Given the description of an element on the screen output the (x, y) to click on. 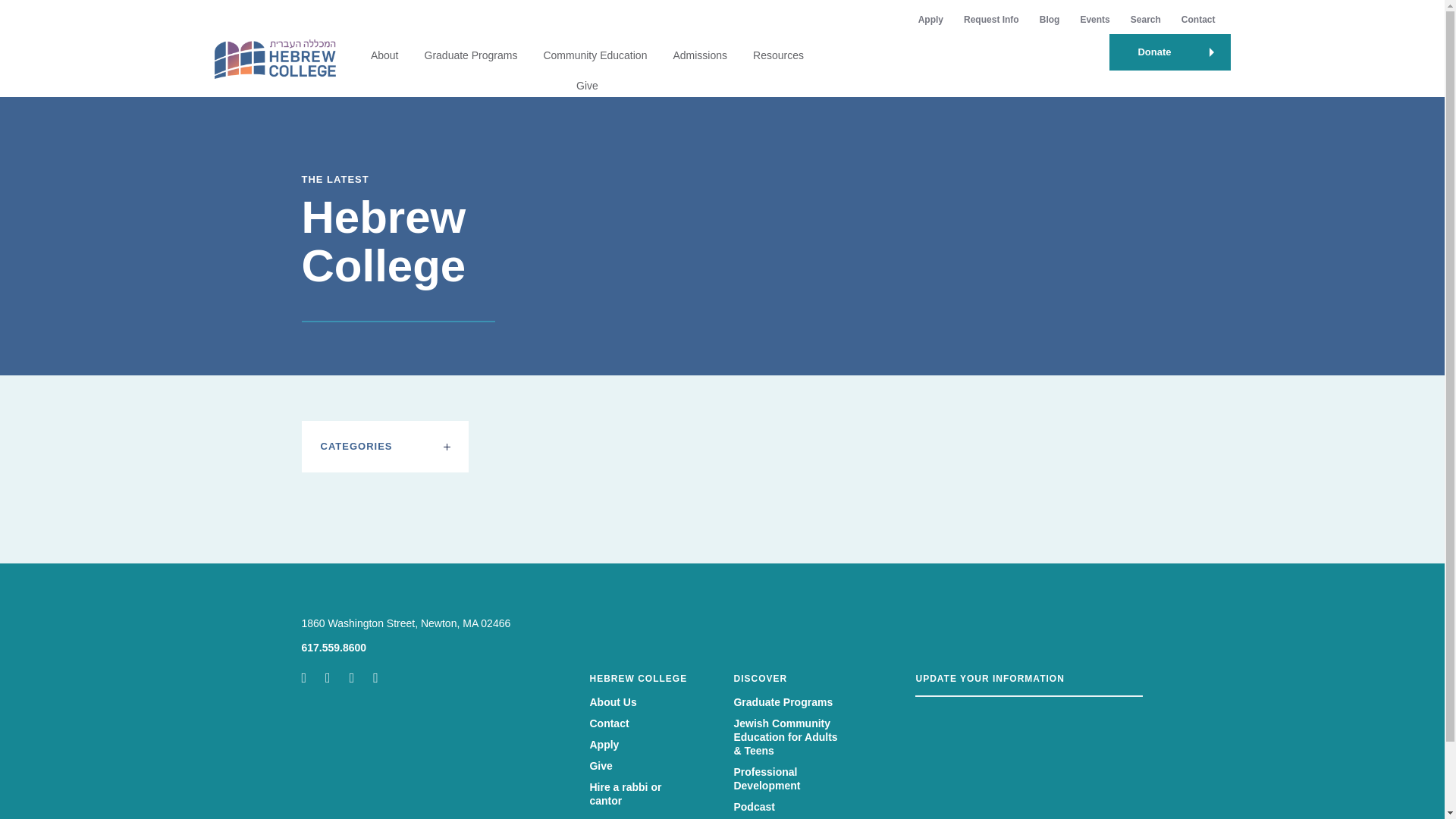
Community Education (594, 55)
Graduate Programs (471, 55)
About (385, 55)
Donate (1169, 52)
